Given the description of an element on the screen output the (x, y) to click on. 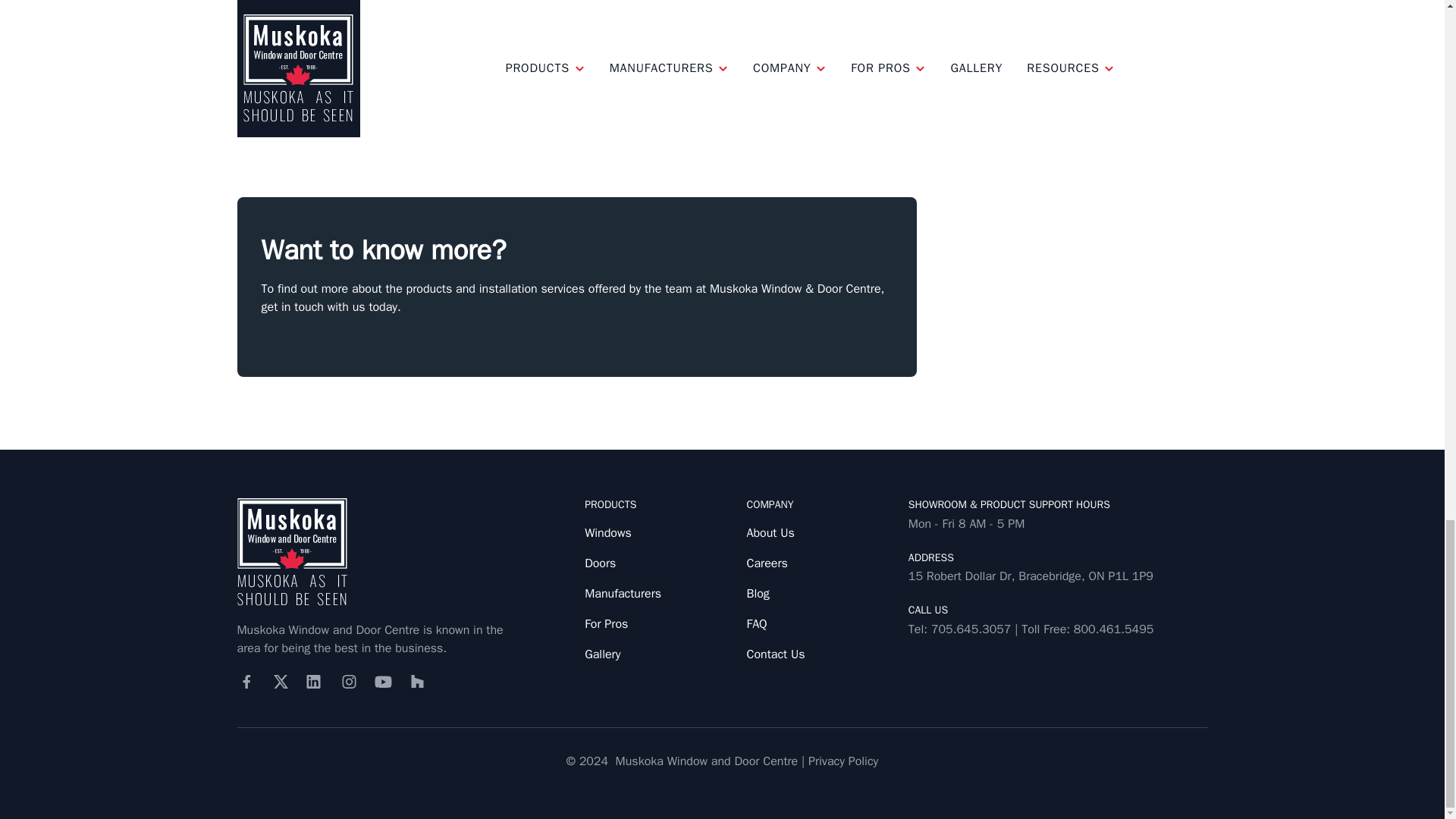
get in touch with us (723, 102)
